Given the description of an element on the screen output the (x, y) to click on. 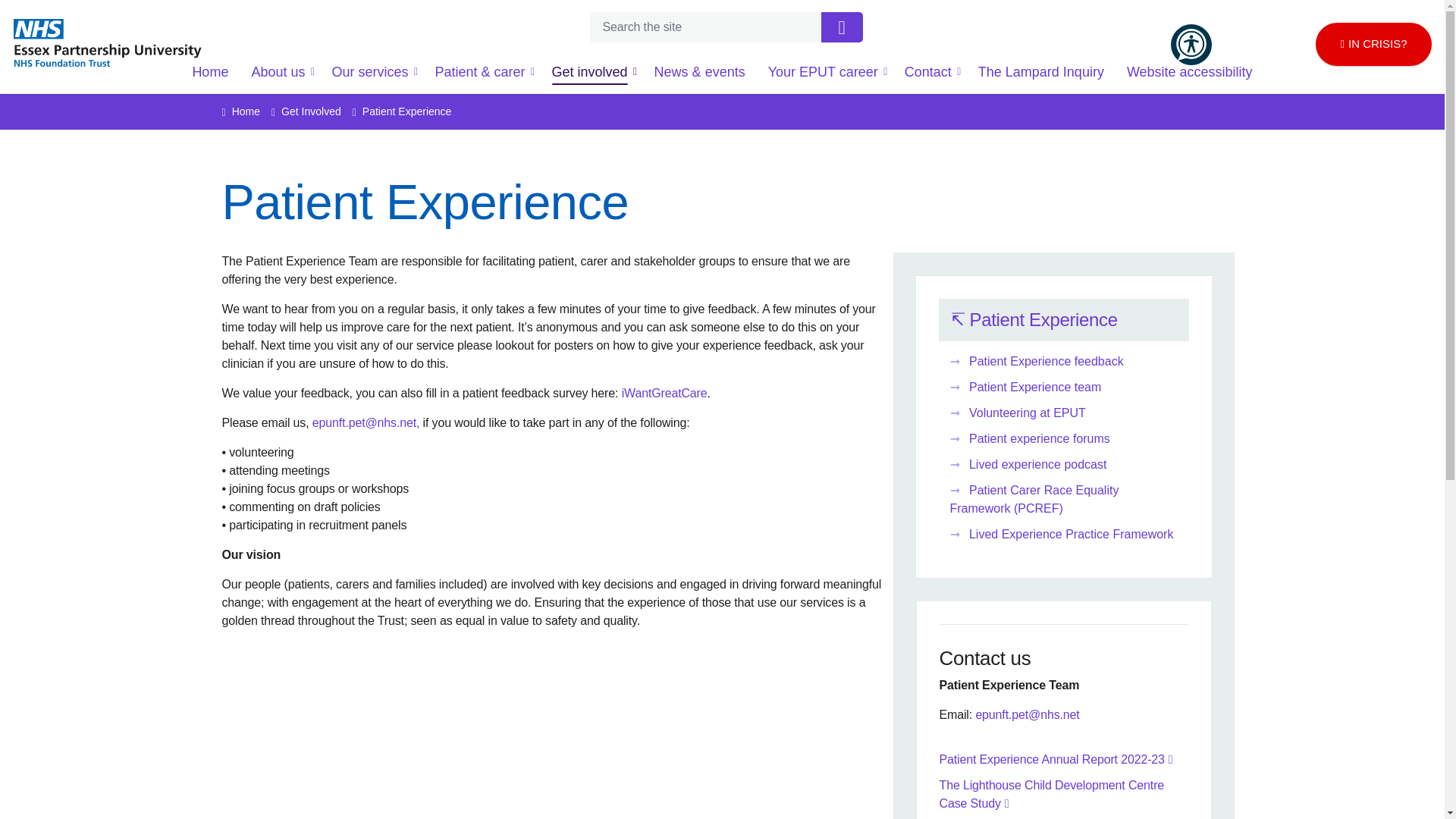
Get involved (591, 72)
Essex Partnership University NHS Trust (108, 49)
Our services (371, 72)
Launch Recite Me (1191, 44)
Home (210, 72)
Skip to main content (722, 16)
About us (280, 72)
